Given the description of an element on the screen output the (x, y) to click on. 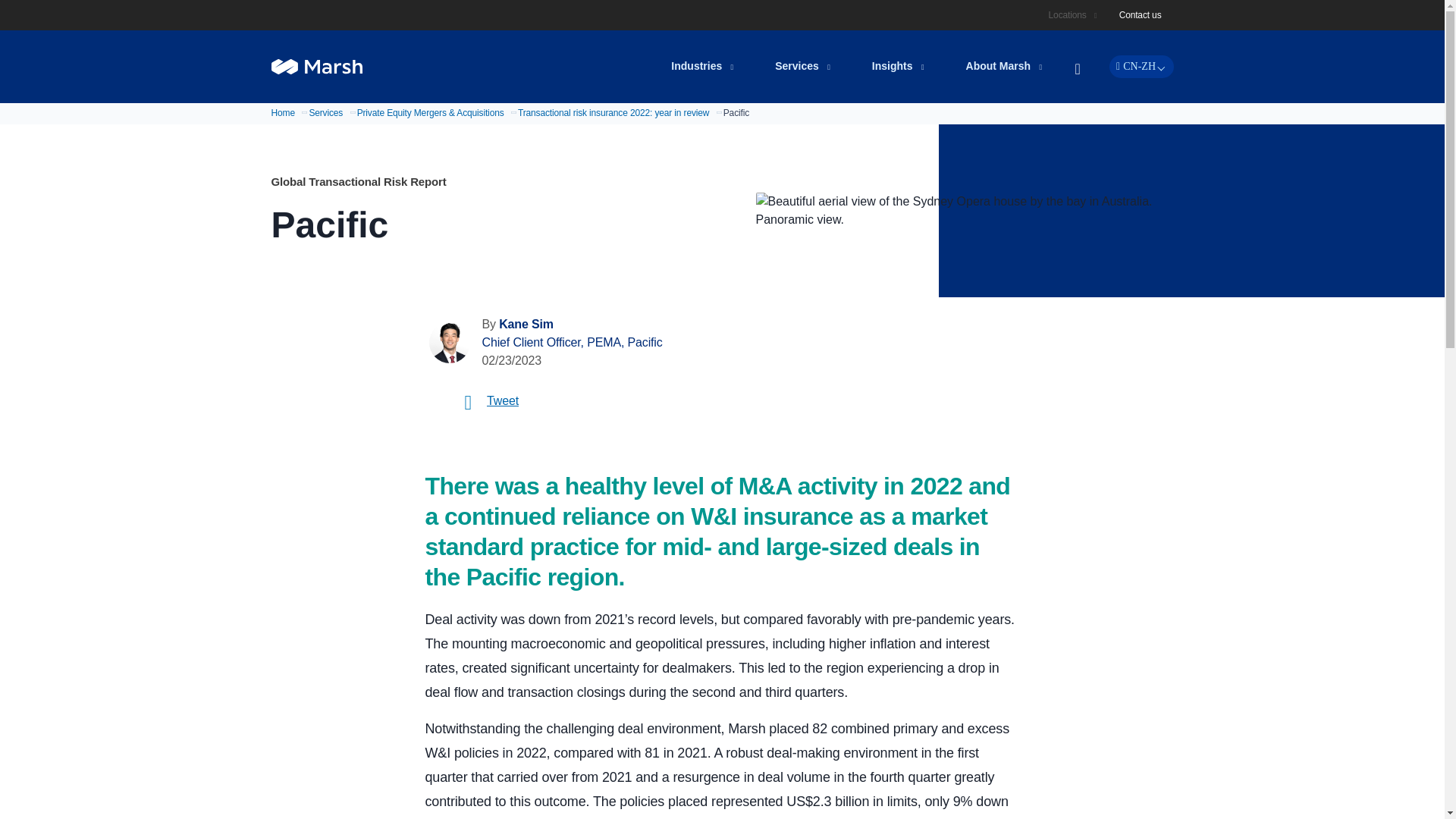
Skip to main content (731, 10)
Locations (1069, 14)
Contact us (1140, 14)
